Given the description of an element on the screen output the (x, y) to click on. 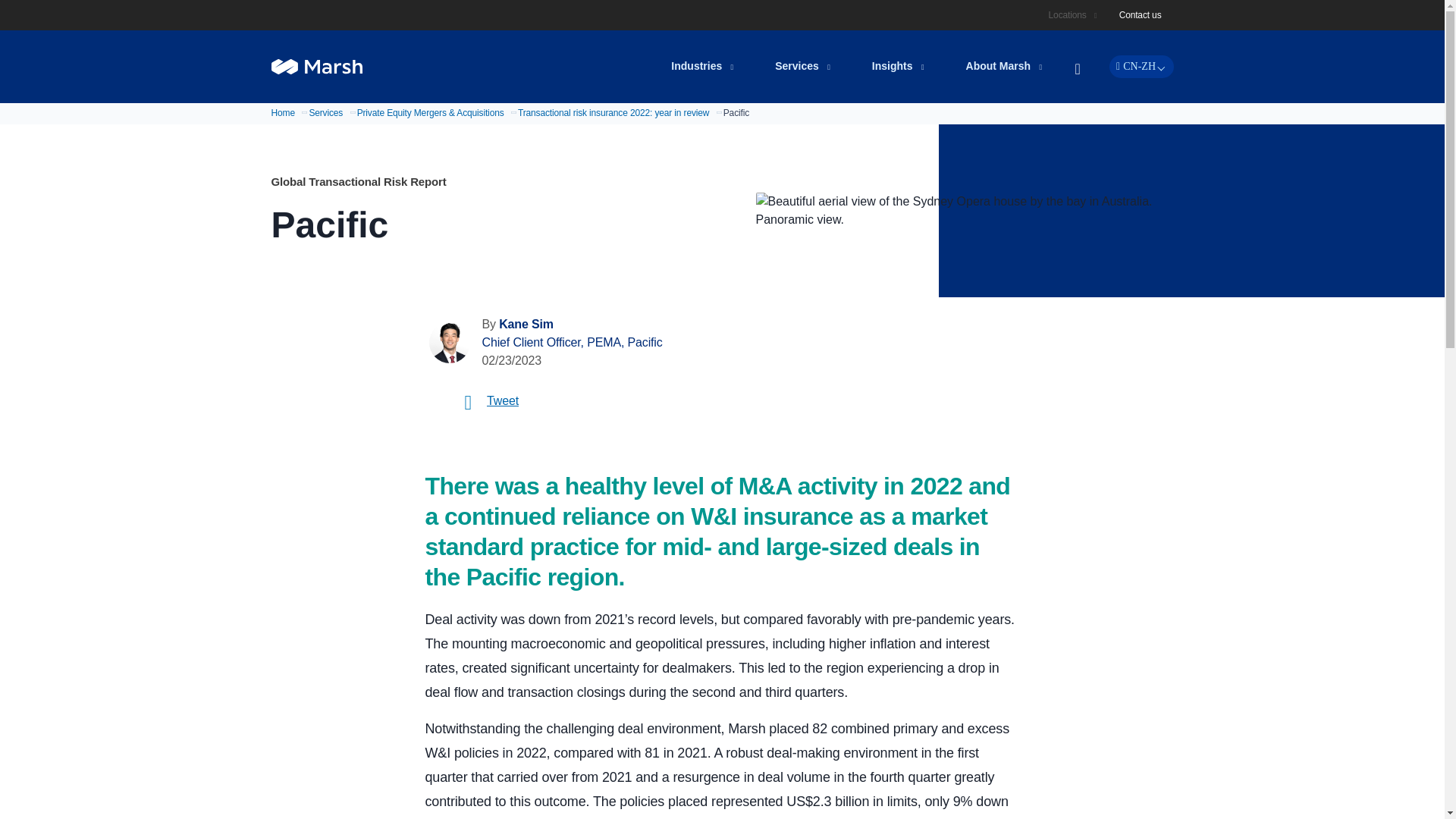
Skip to main content (731, 10)
Locations (1069, 14)
Contact us (1140, 14)
